Given the description of an element on the screen output the (x, y) to click on. 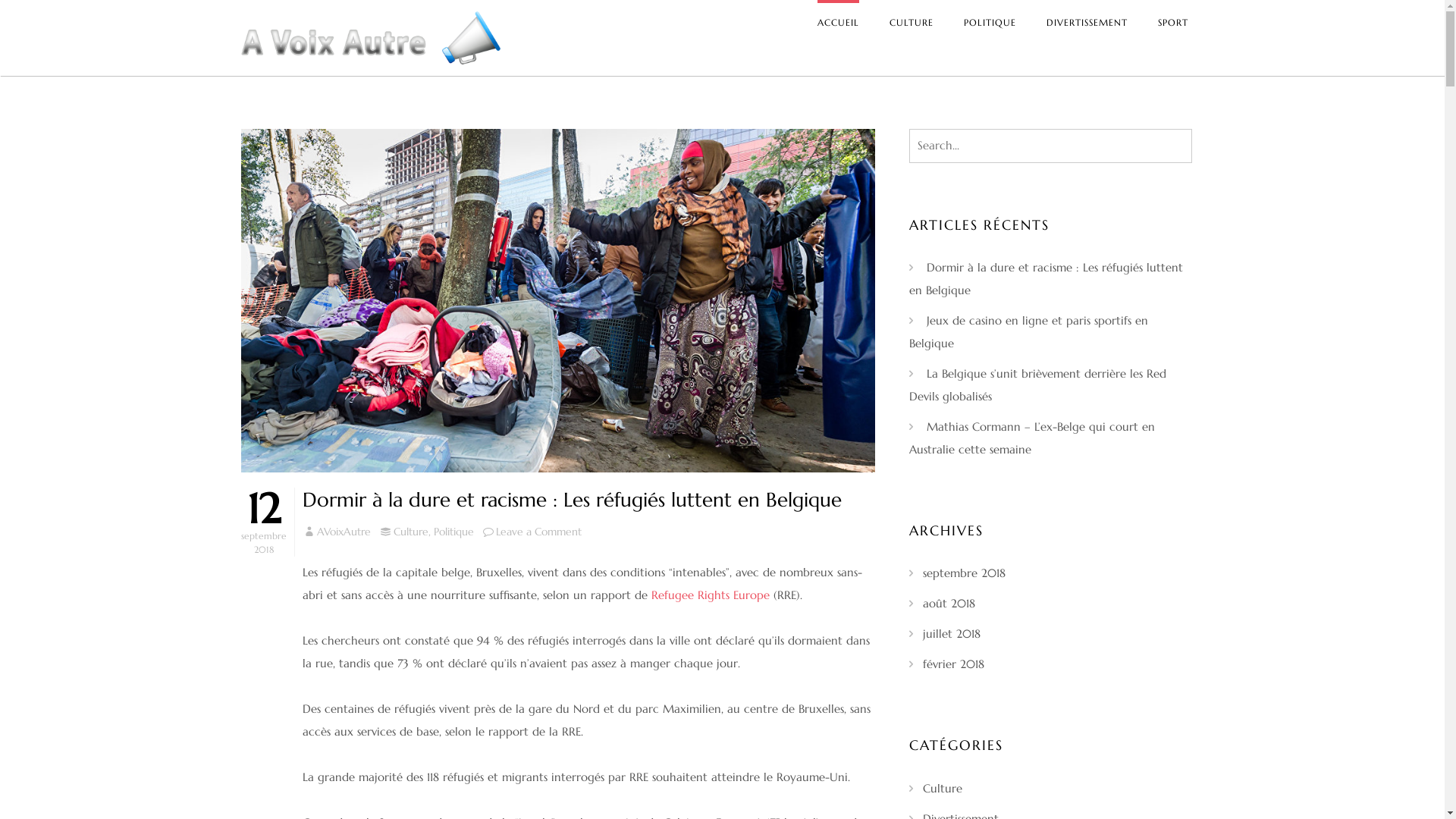
Skip to content Element type: text (0, 0)
12
septembre
2018 Element type: text (263, 521)
ACCUEIL Element type: text (838, 22)
Search Element type: text (30, 14)
DIVERTISSEMENT Element type: text (1086, 22)
juillet 2018 Element type: text (951, 633)
Culture Element type: text (410, 531)
Culture Element type: text (942, 788)
SPORT Element type: text (1172, 22)
Politique Element type: text (453, 531)
CULTURE Element type: text (911, 22)
Search for: Element type: hover (1050, 145)
A Voix Autre Element type: text (505, 86)
POLITIQUE Element type: text (989, 22)
septembre 2018 Element type: text (963, 572)
Refugee Rights Europe Element type: text (709, 594)
AVoixAutre Element type: text (343, 531)
Jeux de casino en ligne et paris sportifs en Belgique Element type: text (1028, 331)
